Given the description of an element on the screen output the (x, y) to click on. 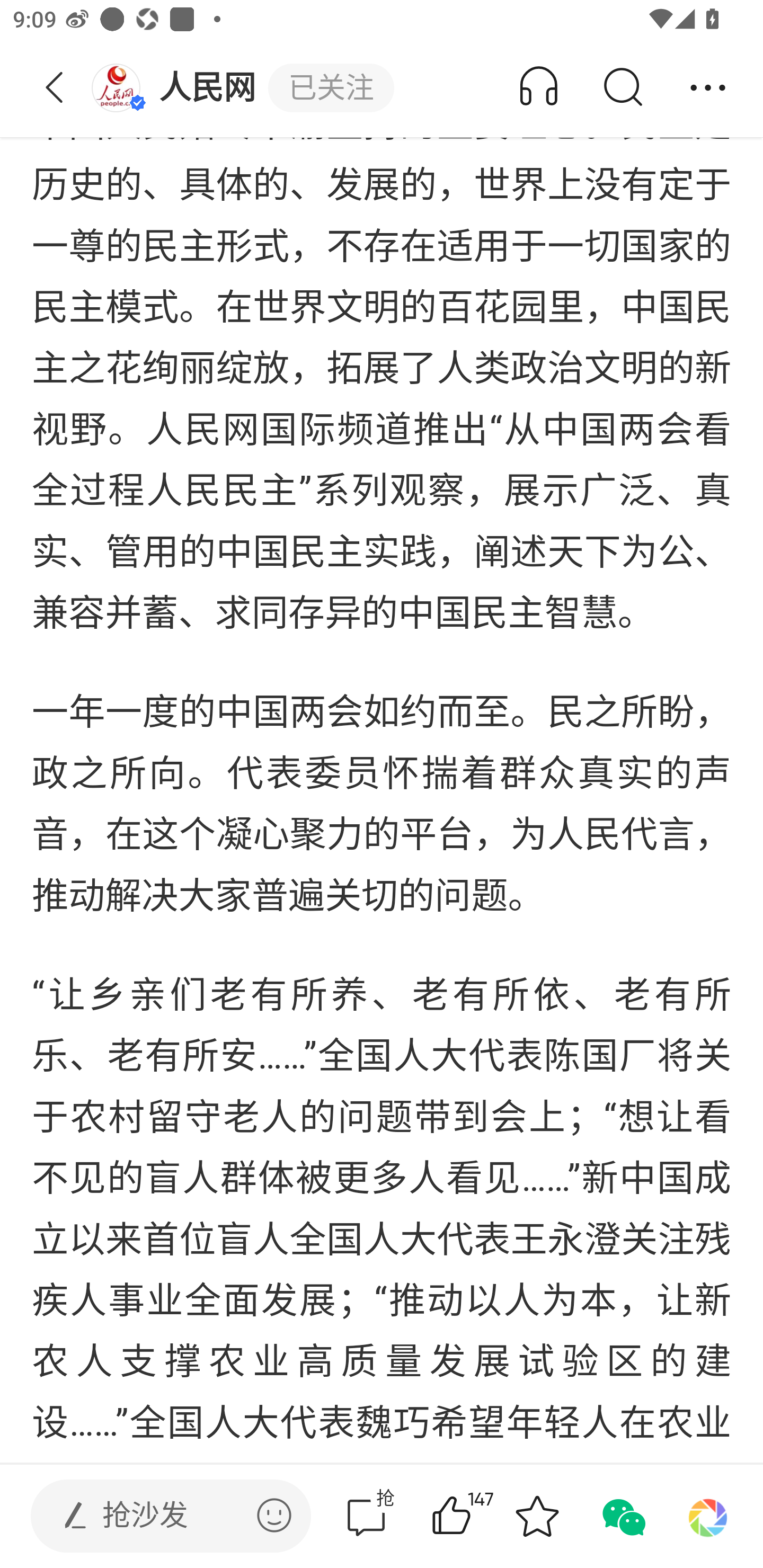
人民网 (179, 87)
搜索  (622, 87)
分享  (707, 87)
 返回 (54, 87)
已关注 (330, 88)
发表评论  抢沙发 发表评论  (155, 1516)
抢评论  抢 评论 (365, 1516)
147赞 (476, 1516)
收藏  (536, 1516)
分享到微信  (622, 1516)
分享到朋友圈 (707, 1516)
 (274, 1515)
